Given the description of an element on the screen output the (x, y) to click on. 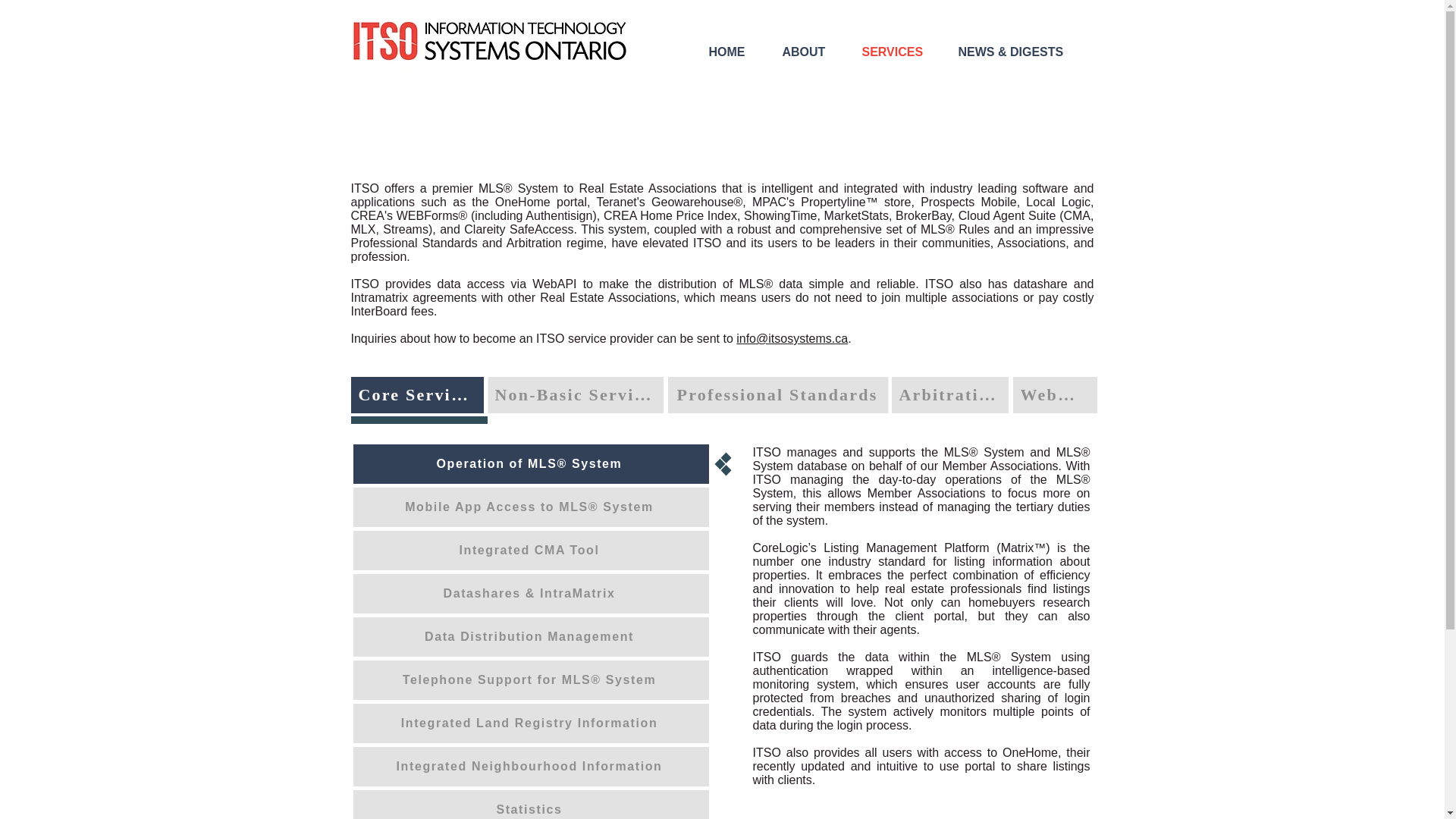
Integrated Neighbourhood Information (531, 766)
Integrated CMA Tool (531, 550)
HOME (737, 51)
Core Services (416, 394)
Integrated Land Registry Information (531, 722)
Data Distribution Management (531, 636)
Professional Standards (777, 394)
Arbitration (950, 394)
SERVICES (901, 51)
WebAPI (1055, 394)
